Given the description of an element on the screen output the (x, y) to click on. 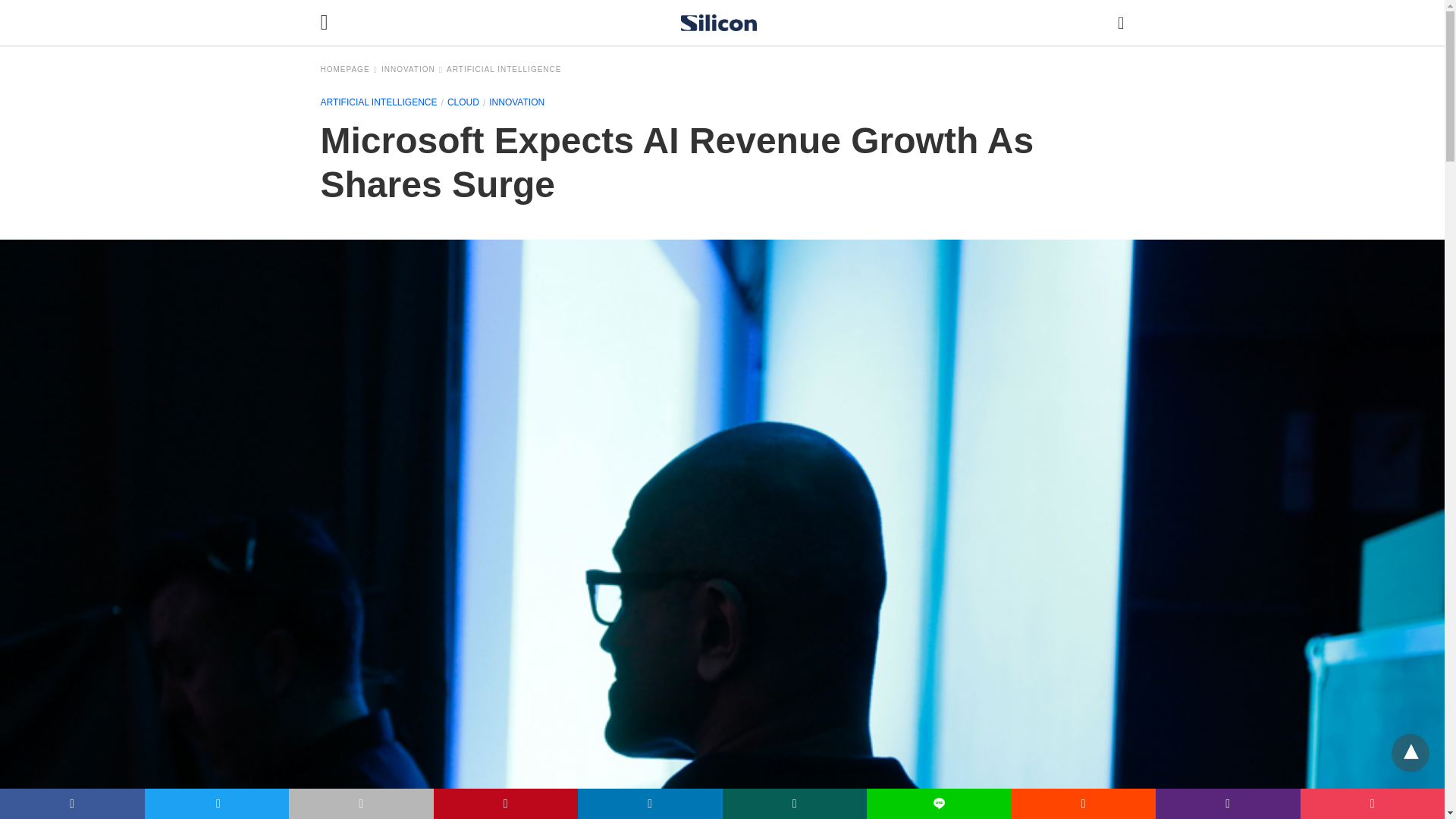
Innovation (411, 69)
Artificial Intelligence (503, 69)
CLOUD (462, 102)
Silicon UK (719, 22)
INNOVATION (516, 102)
Innovation (516, 102)
Artificial Intelligence (378, 102)
search (1121, 22)
ARTIFICIAL INTELLIGENCE (378, 102)
HOMEPAGE (348, 69)
INNOVATION (411, 69)
ARTIFICIAL INTELLIGENCE (503, 69)
Homepage (348, 69)
Cloud (462, 102)
